Given the description of an element on the screen output the (x, y) to click on. 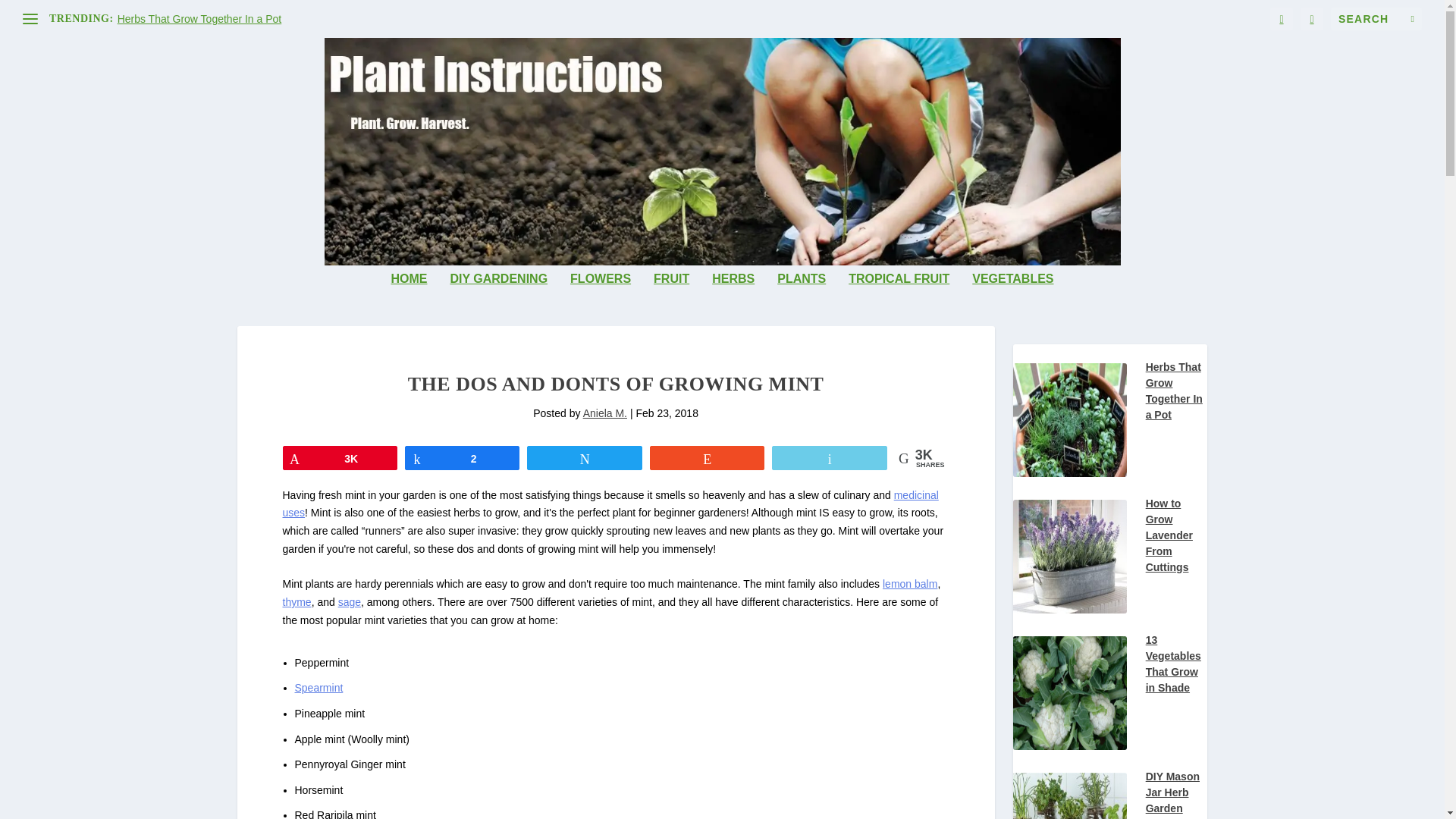
thyme (296, 602)
Spearmint (318, 687)
3K (339, 457)
lemon balm (909, 583)
Herbs That Grow Together In a Pot (199, 19)
Posts by Aniela M. (605, 413)
Aniela M. (605, 413)
TROPICAL FRUIT (898, 298)
Search for: (1376, 18)
VEGETABLES (1012, 298)
2 (462, 457)
PLANTS (801, 298)
medicinal uses (609, 503)
DIY GARDENING (498, 298)
FLOWERS (600, 298)
